Given the description of an element on the screen output the (x, y) to click on. 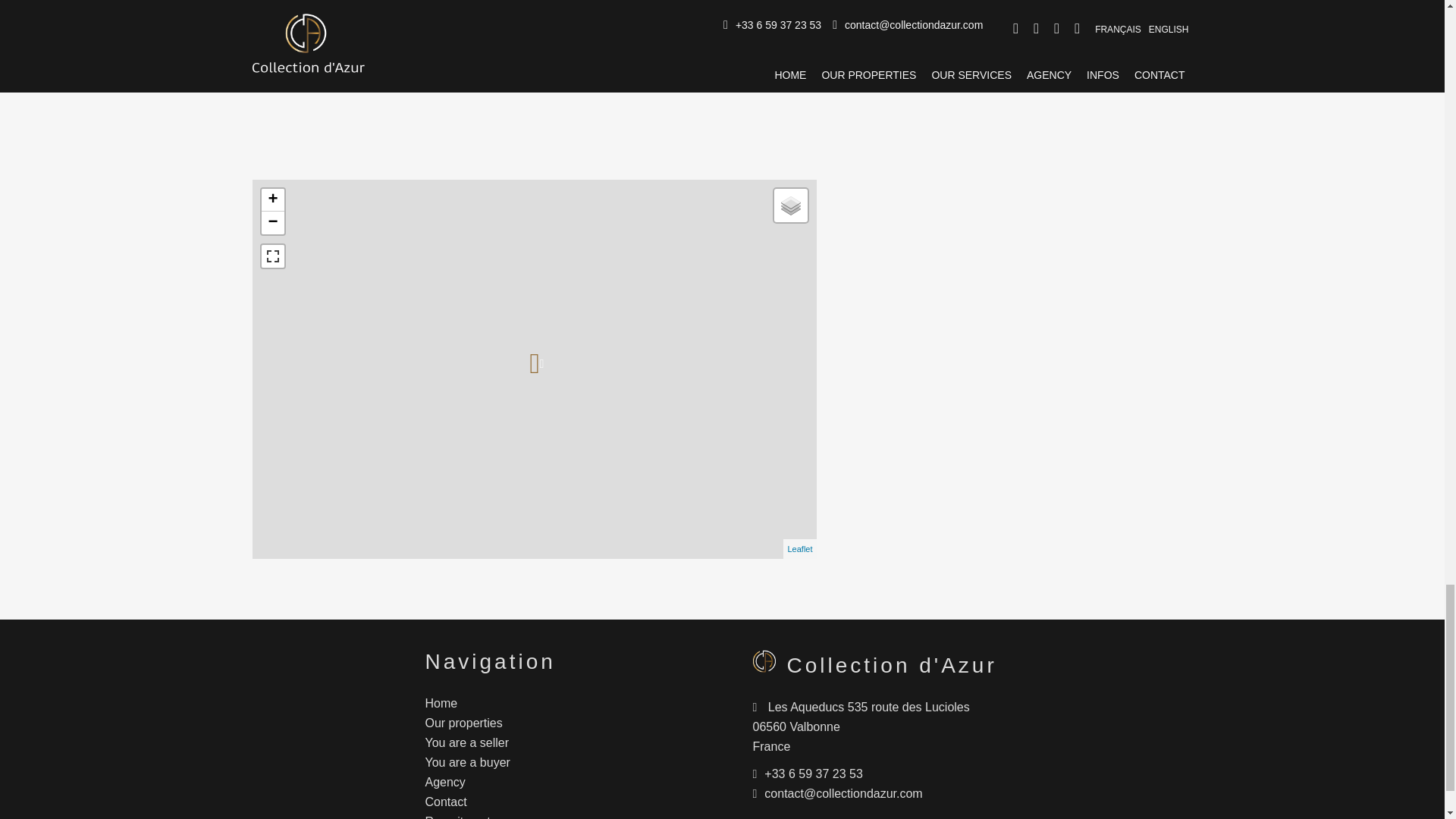
Zoom in (271, 200)
Layers (789, 205)
Zoom out (271, 222)
View Fullscreen (271, 255)
A JS library for interactive maps (799, 548)
